Given the description of an element on the screen output the (x, y) to click on. 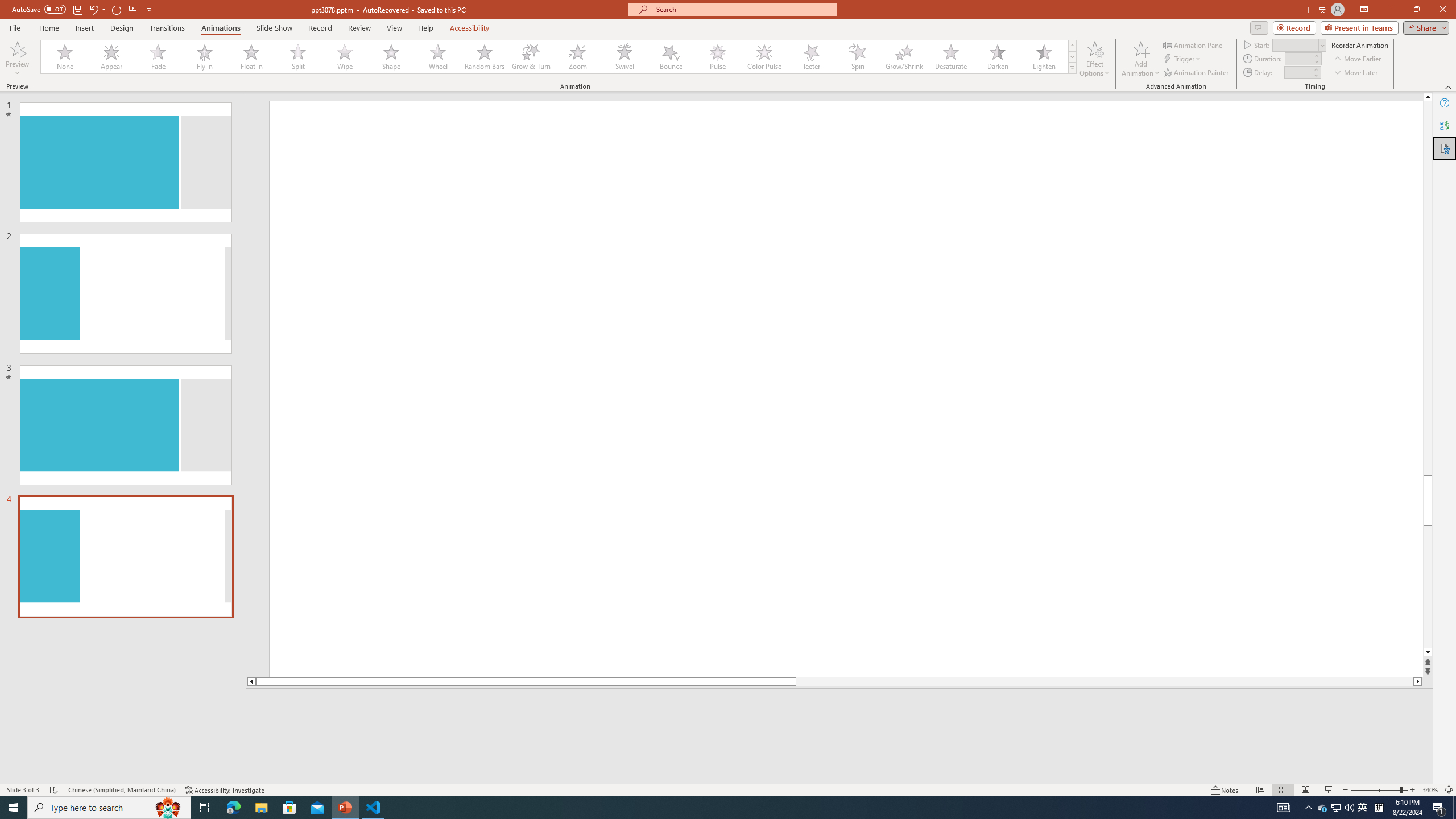
Color Pulse (764, 56)
Wheel (437, 56)
Pulse (717, 56)
Spin (857, 56)
Swivel (624, 56)
